Given the description of an element on the screen output the (x, y) to click on. 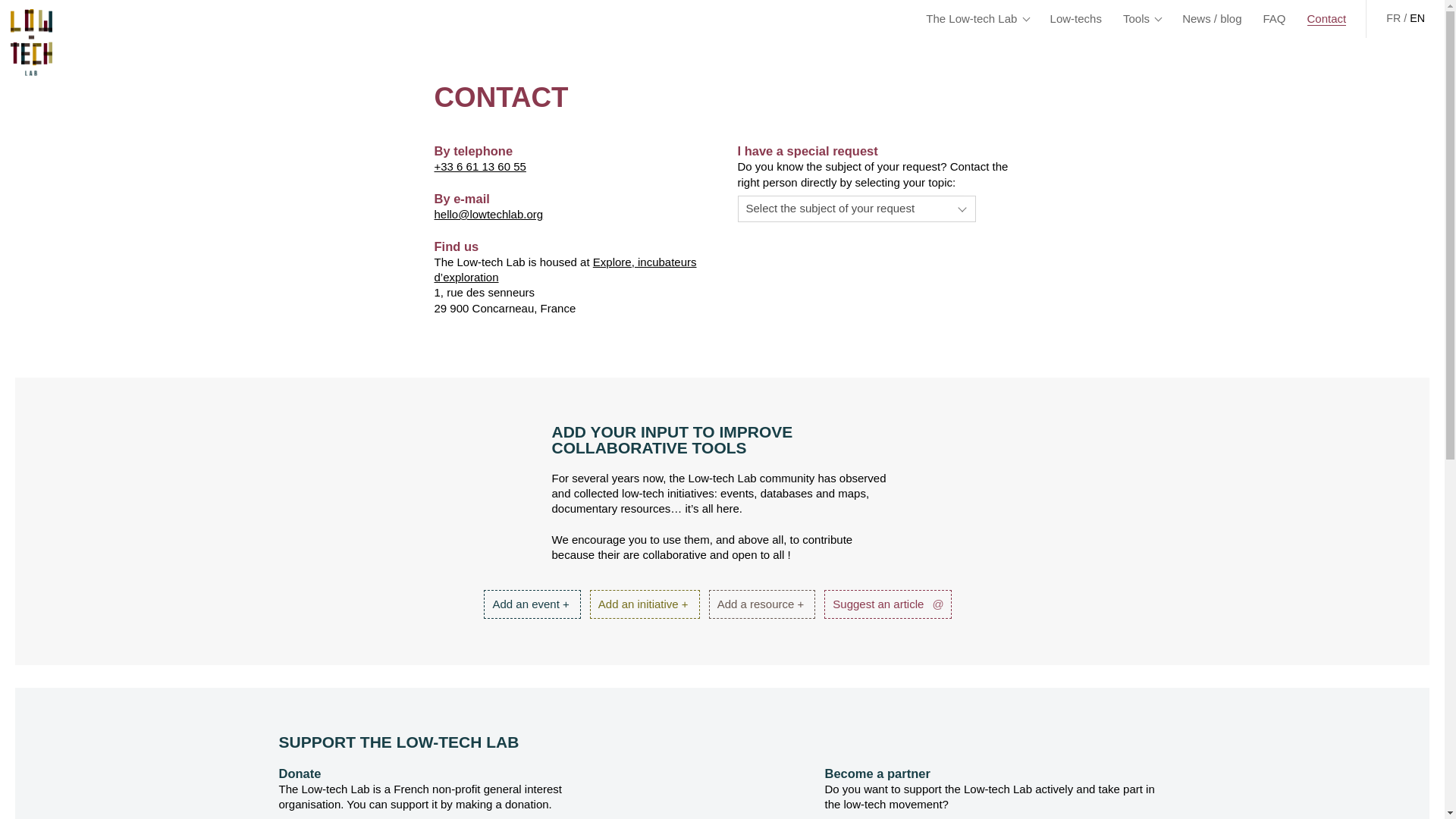
FAQ (1274, 18)
EN (1417, 18)
Low-techs (1075, 18)
Contact (1326, 18)
FR (1393, 18)
